Given the description of an element on the screen output the (x, y) to click on. 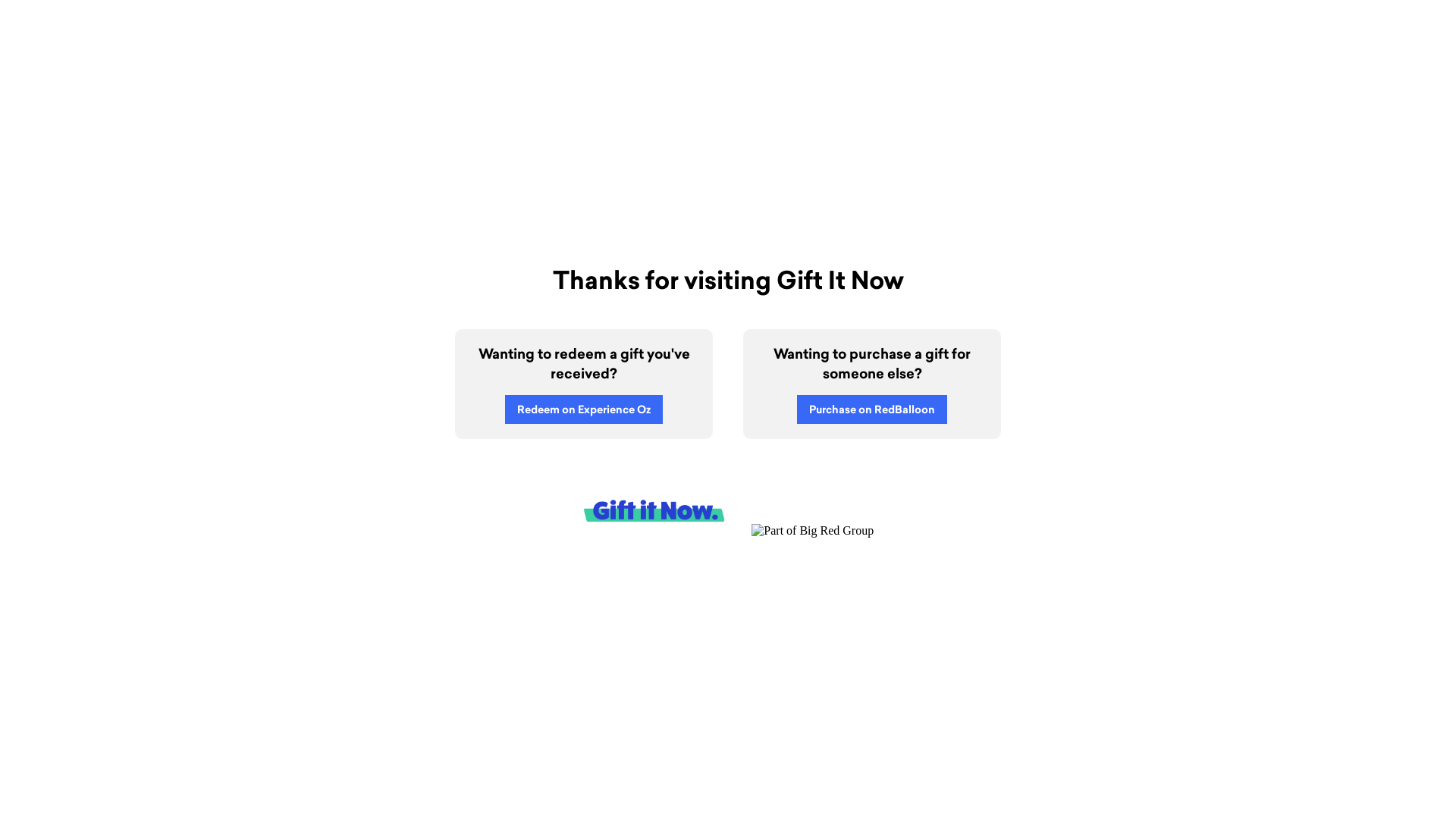
Redeem on Experience Oz Element type: text (583, 409)
Purchase on RedBalloon Element type: text (872, 409)
